Given the description of an element on the screen output the (x, y) to click on. 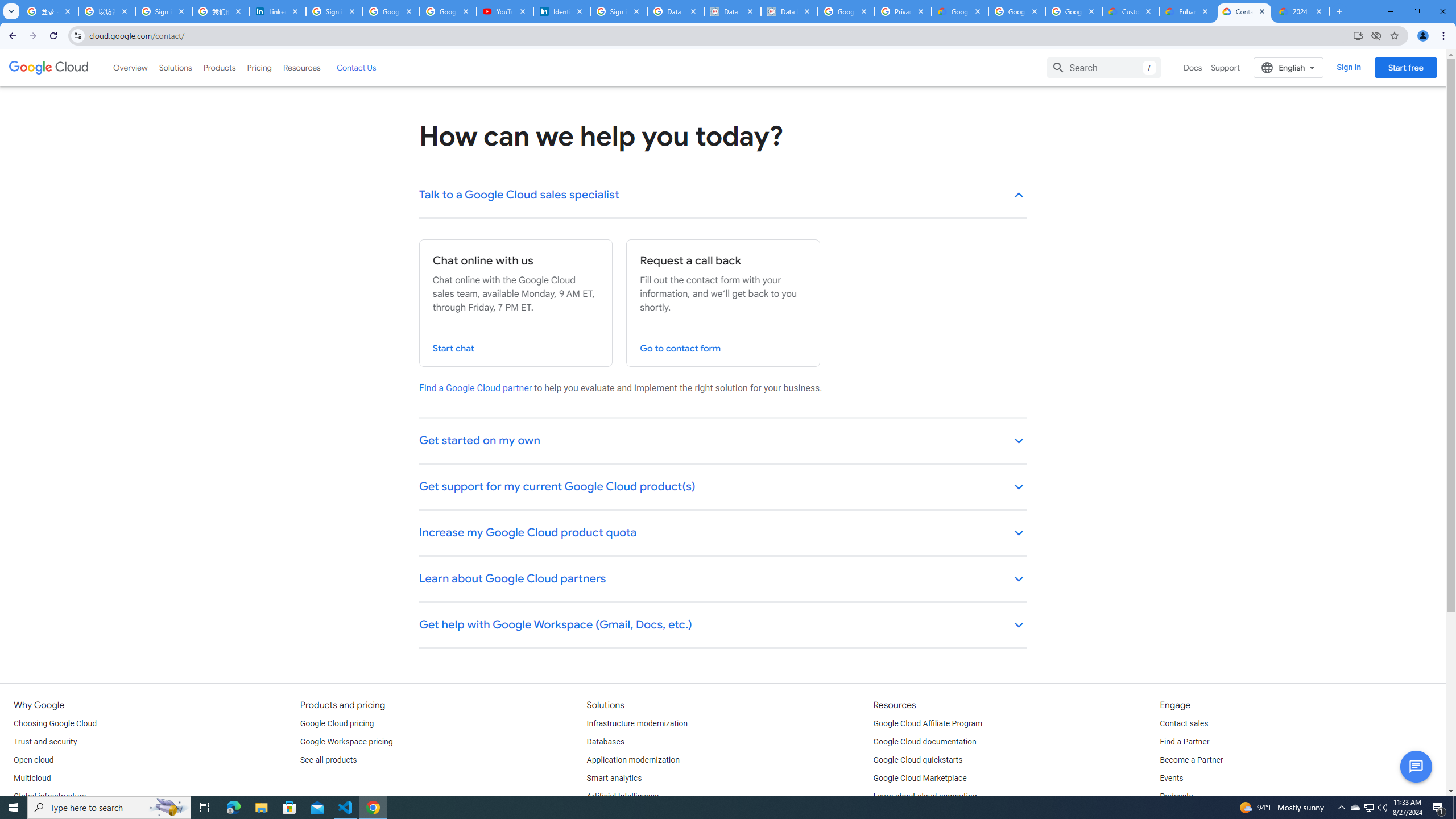
Google Workspace pricing (346, 742)
See all products (327, 760)
Global infrastructure (49, 796)
Find a Google Cloud partner (475, 387)
Products (218, 67)
Trust and security (45, 742)
Support (1225, 67)
Docs (1192, 67)
